Given the description of an element on the screen output the (x, y) to click on. 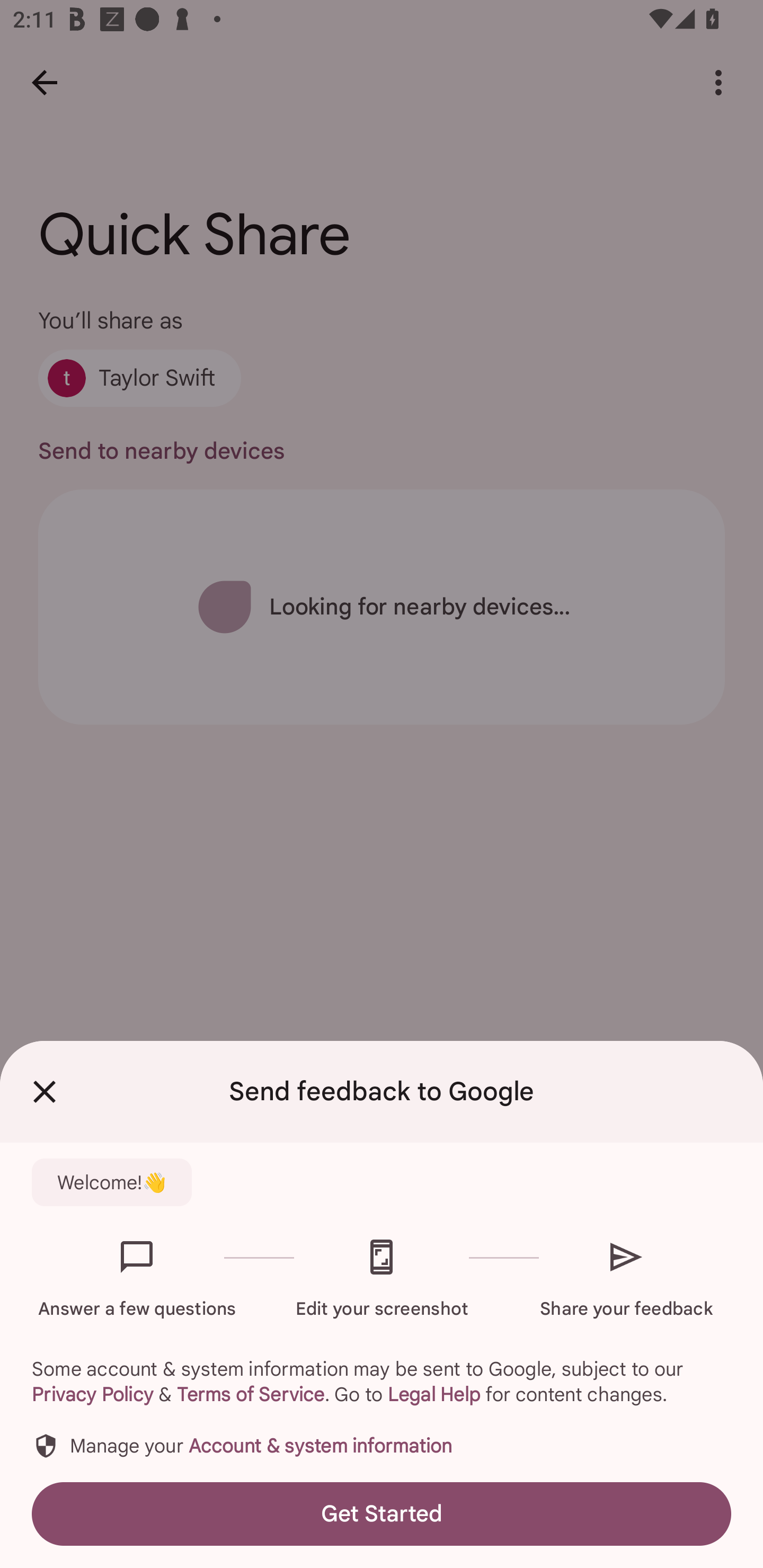
Close Feedback (44, 1091)
Get Started (381, 1513)
